Given the description of an element on the screen output the (x, y) to click on. 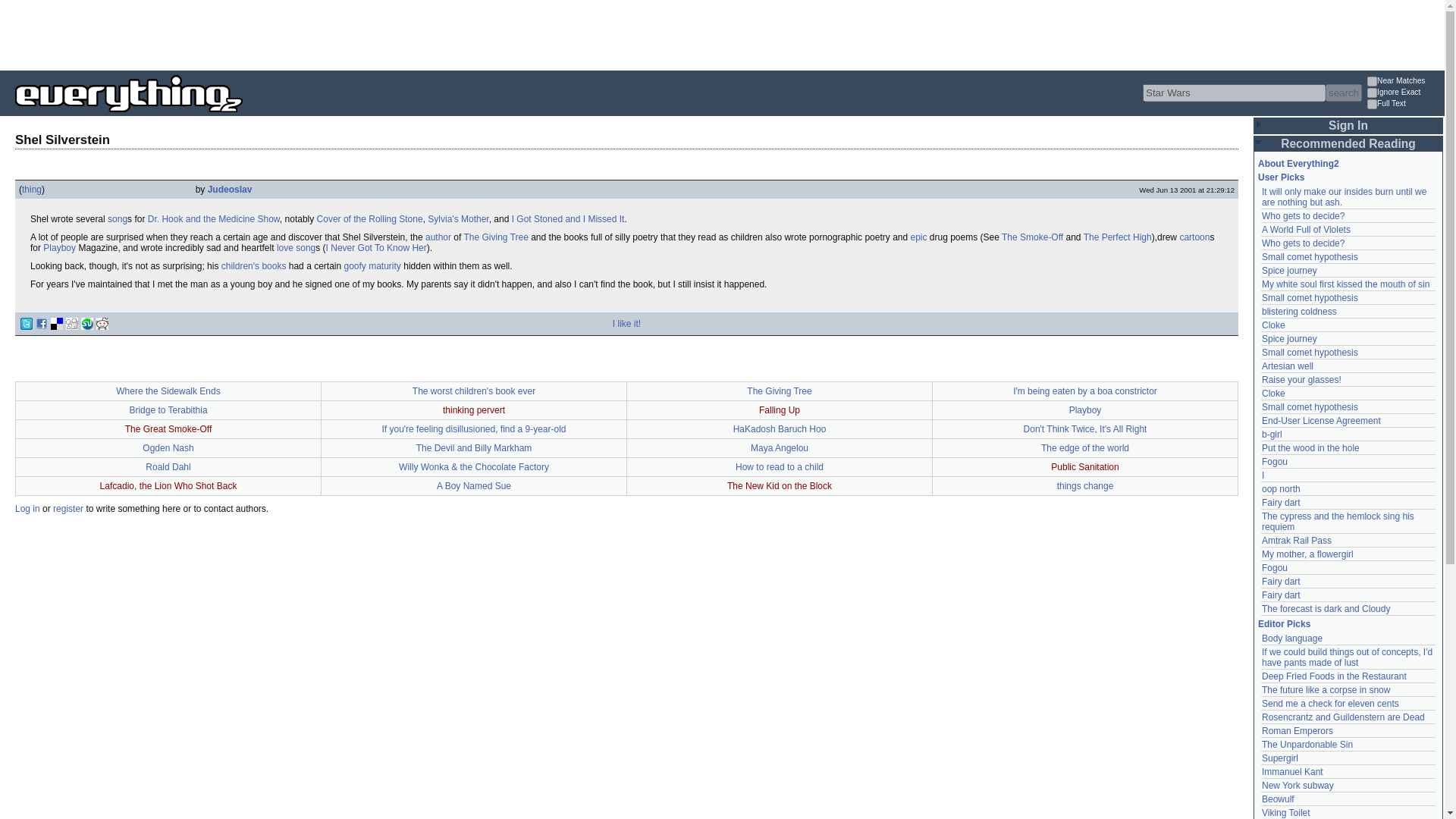
search (1342, 92)
HaKadosh Baruch Hoo (780, 429)
thinking pervert (473, 409)
1 (1372, 81)
cartoon (1194, 236)
I like it! (626, 323)
The Smoke-Off (1031, 236)
Everything (242, 117)
author (438, 236)
The Smoke-Off (1031, 236)
